Given the description of an element on the screen output the (x, y) to click on. 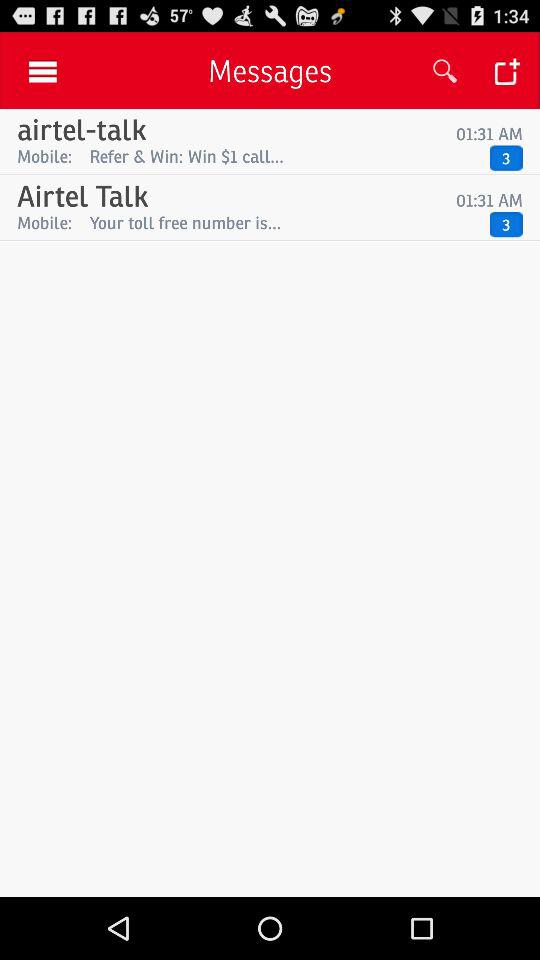
choose item next to the mobile: icon (284, 222)
